Given the description of an element on the screen output the (x, y) to click on. 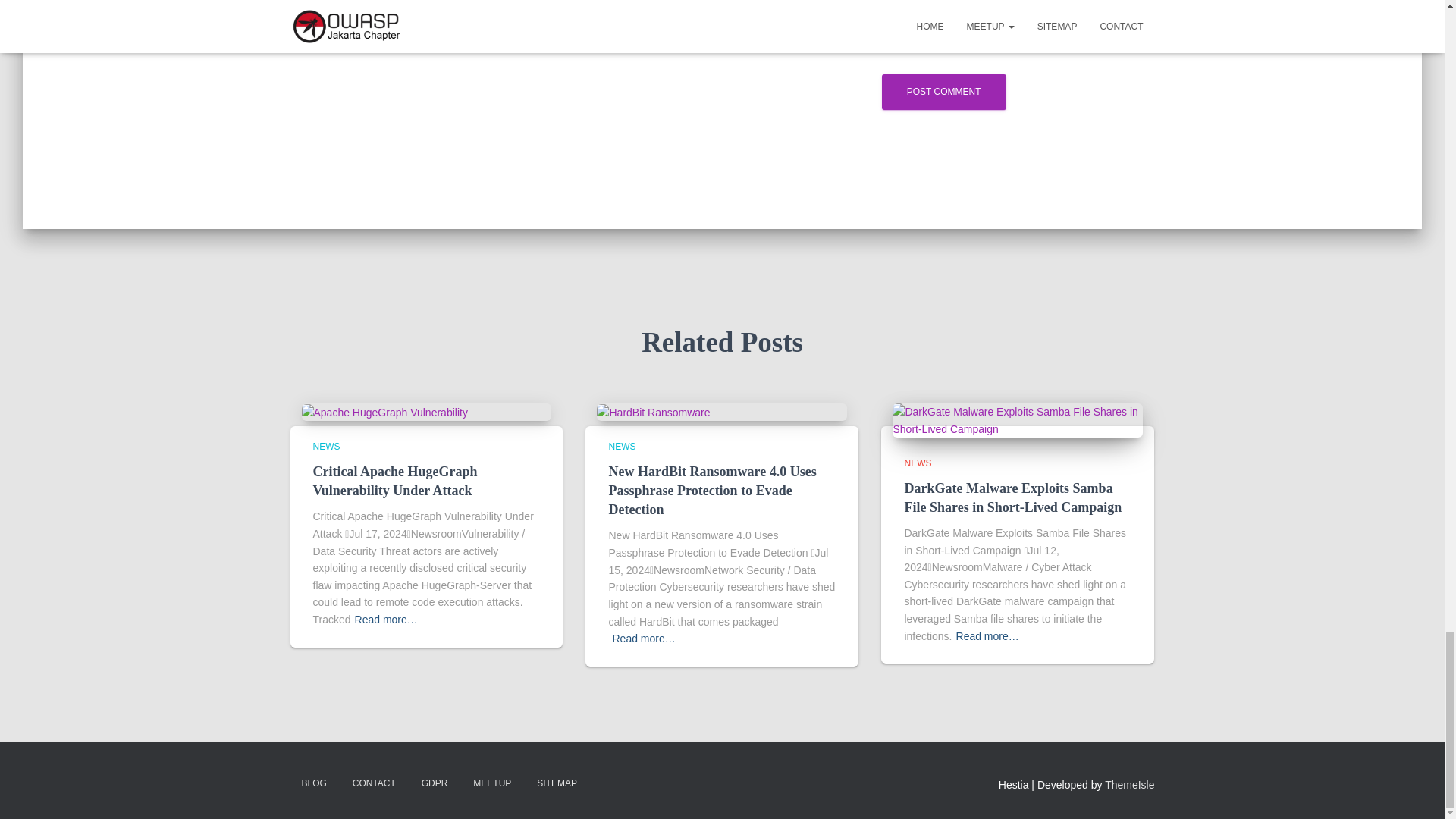
Critical Apache HugeGraph Vulnerability Under Attack (395, 480)
subscribe (521, 44)
NEWS (326, 446)
Post Comment (944, 91)
BLOG (313, 783)
Critical Apache HugeGraph Vulnerability Under Attack (384, 411)
CONTACT (373, 783)
NEWS (621, 446)
GDPR (435, 783)
Post Comment (944, 91)
MEETUP (491, 783)
SITEMAP (556, 783)
NEWS (917, 462)
